Given the description of an element on the screen output the (x, y) to click on. 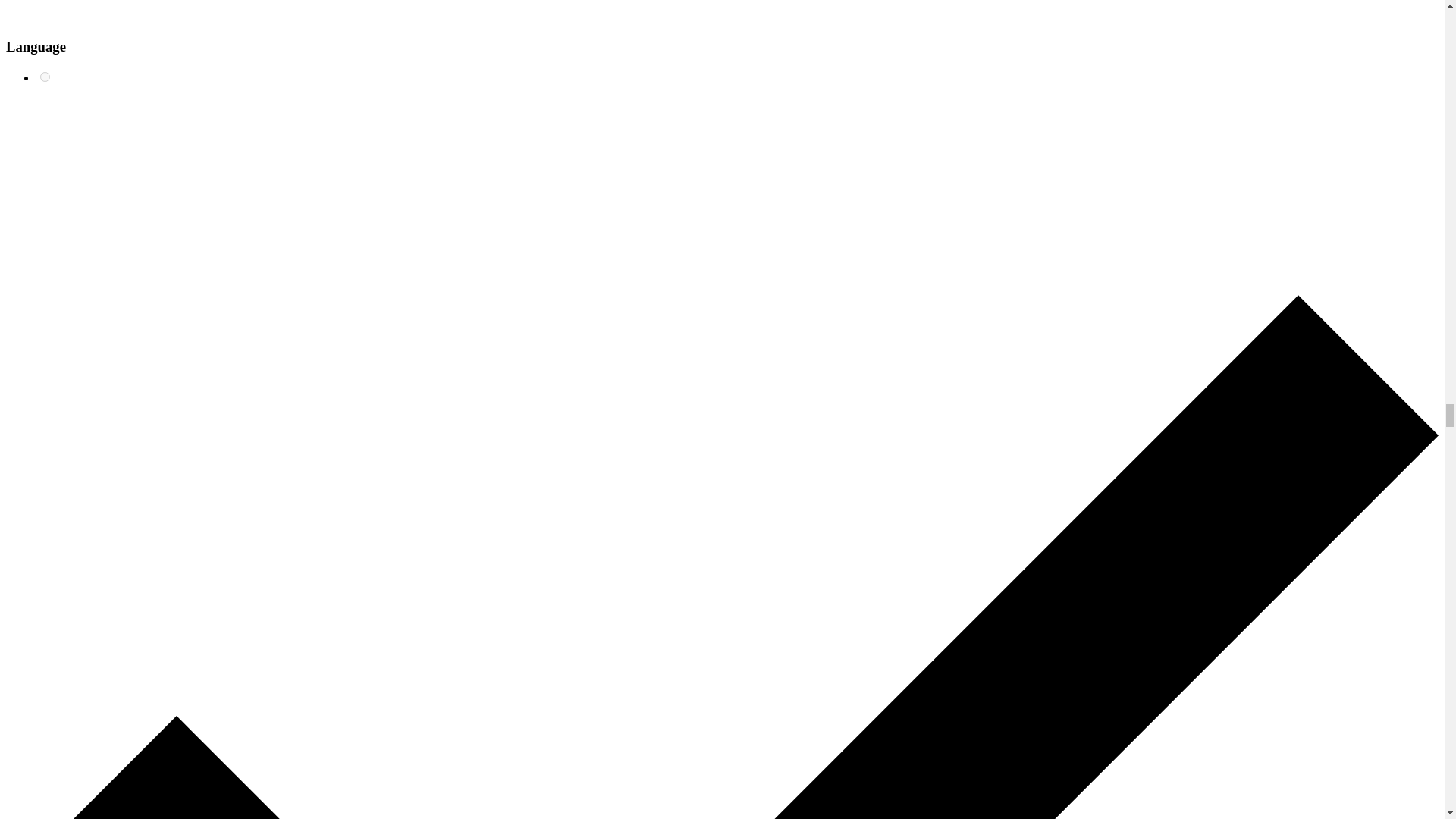
1 (44, 76)
